Given the description of an element on the screen output the (x, y) to click on. 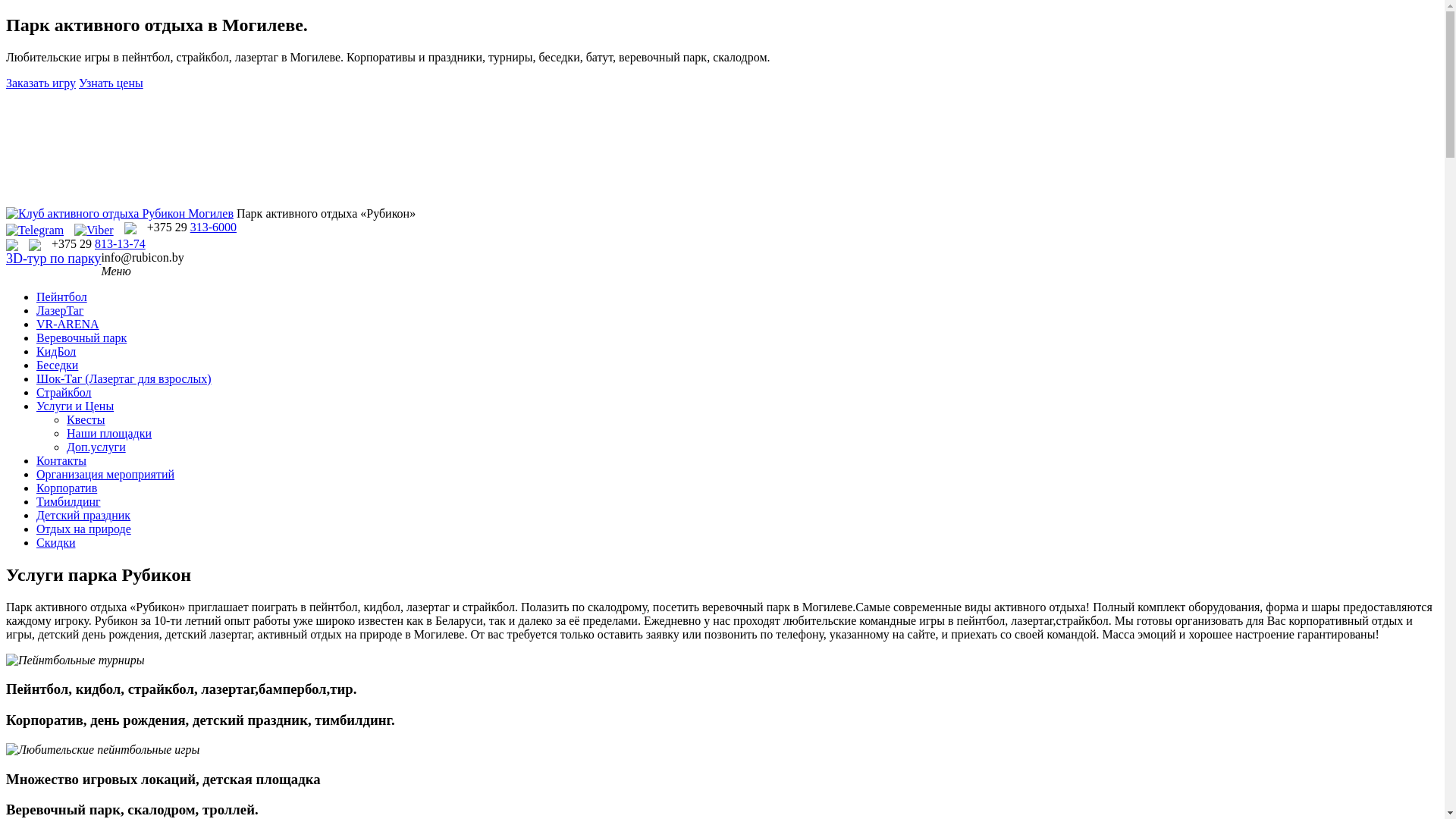
313-6000 Element type: text (213, 226)
813-13-74 Element type: text (119, 243)
VR-ARENA Element type: text (67, 323)
